Given the description of an element on the screen output the (x, y) to click on. 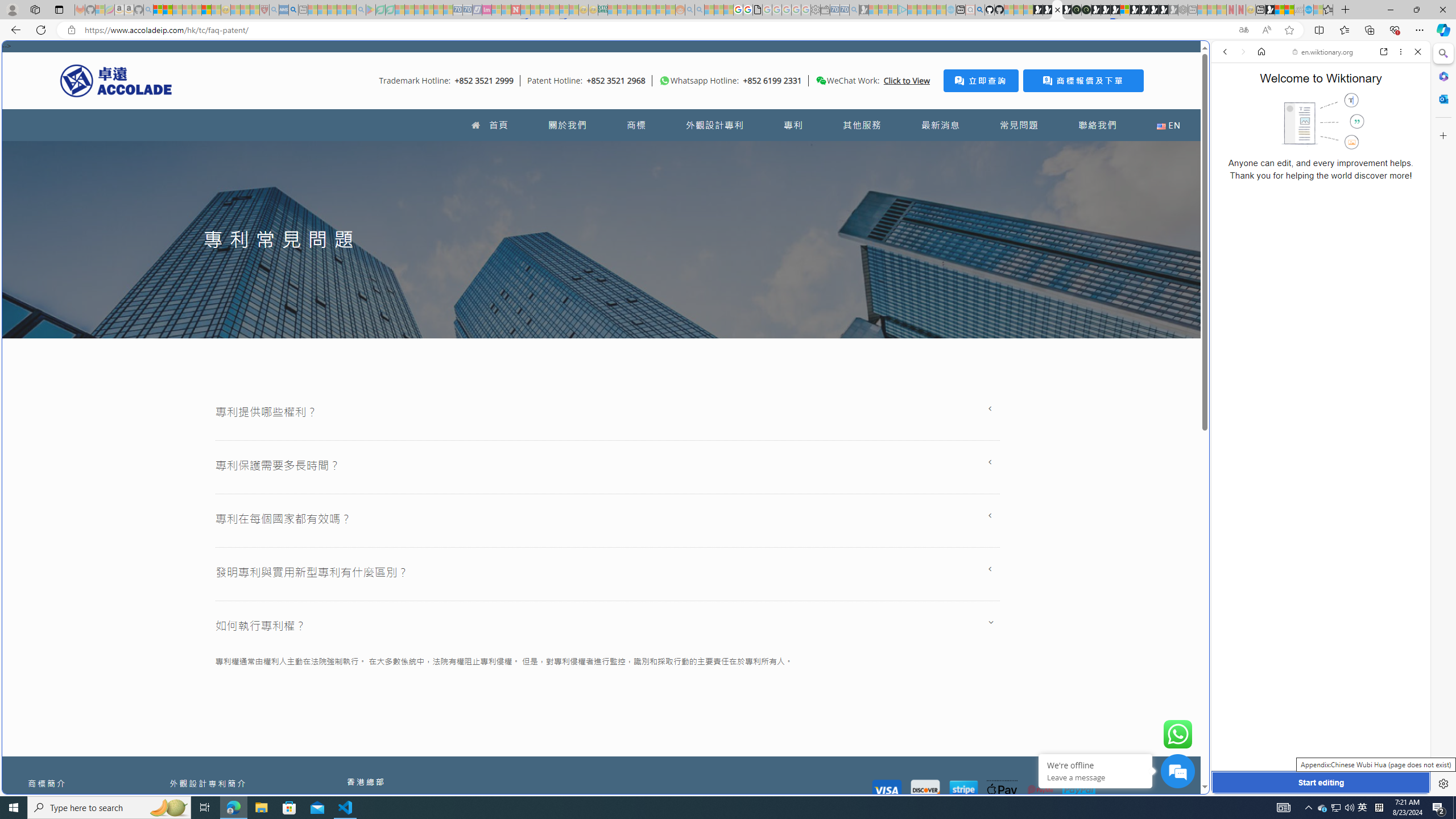
Earth has six continents not seven, radical new study claims (1288, 9)
